Given the description of an element on the screen output the (x, y) to click on. 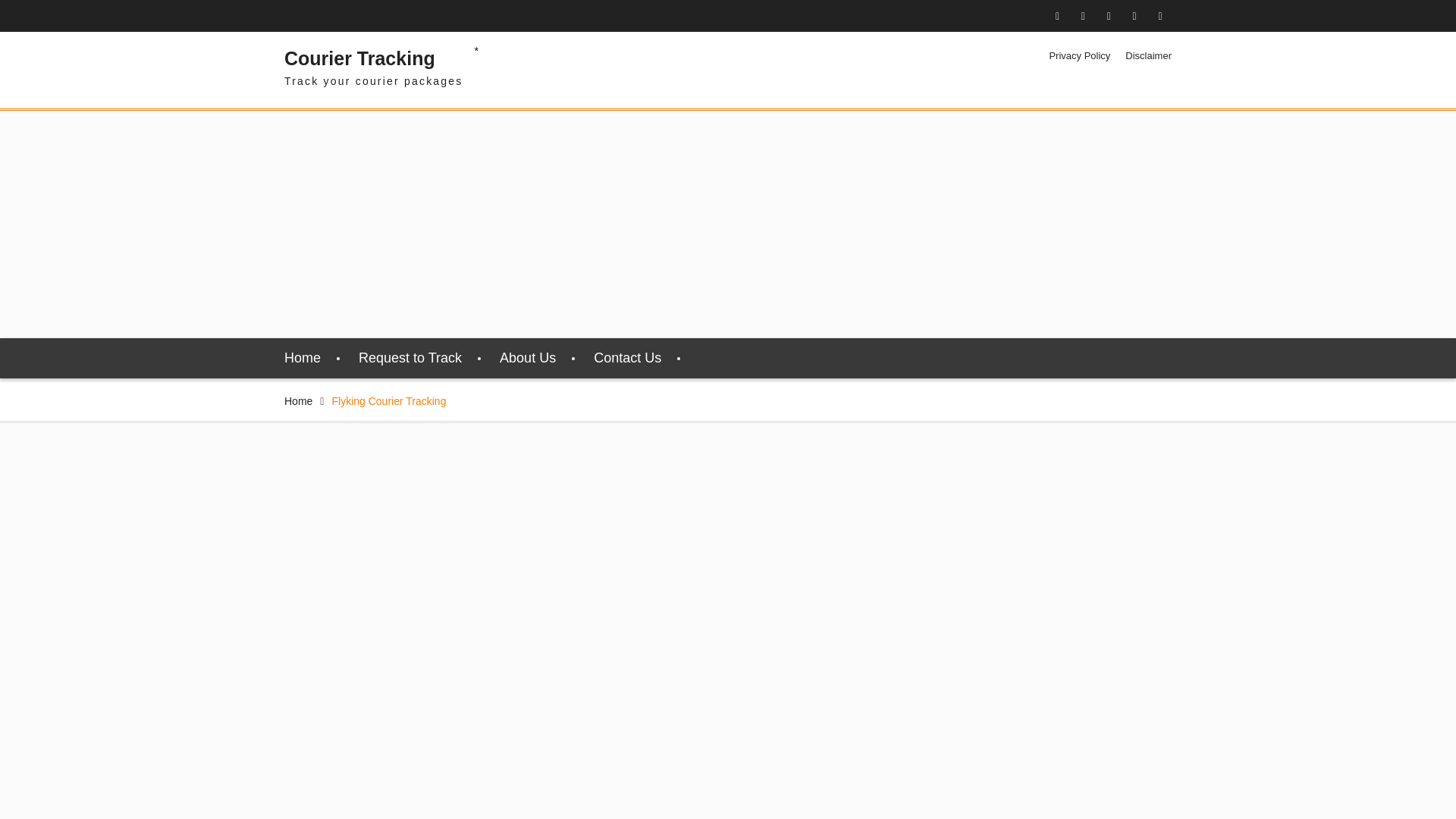
About Us (527, 358)
Disclaimer (1148, 55)
Instagram (1108, 15)
Pintrest (1133, 15)
Face Book (1056, 15)
Privacy Policy (1078, 55)
Home (301, 358)
Request to Track (409, 358)
Courier Tracking (359, 57)
Twitter (1082, 15)
Contact Us (627, 358)
Home (298, 400)
